Given the description of an element on the screen output the (x, y) to click on. 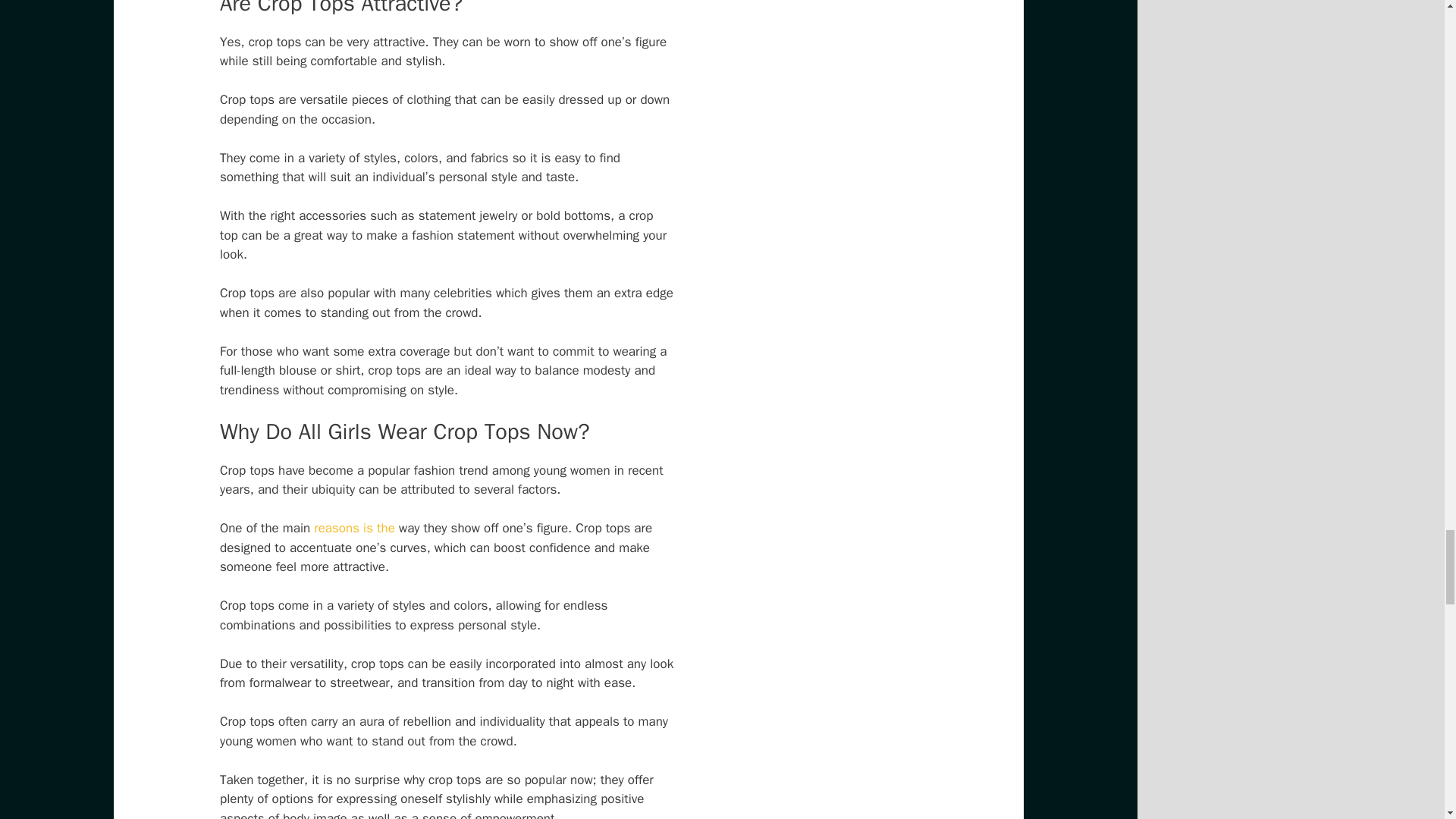
reasons is the (354, 528)
